Given the description of an element on the screen output the (x, y) to click on. 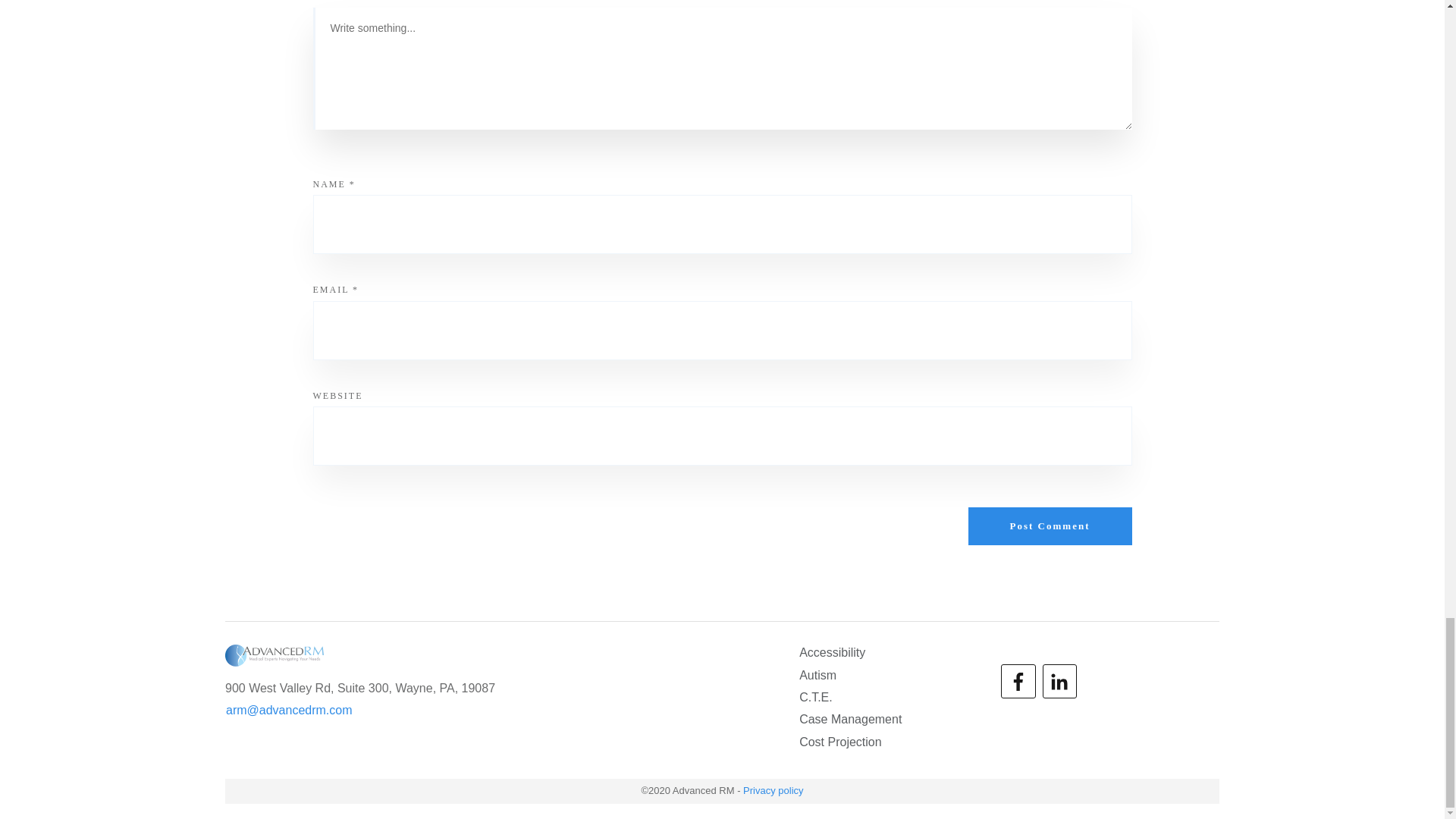
C.T.E. (815, 697)
Case Management (850, 719)
Accessibility (831, 652)
Autism (817, 675)
Post Comment (1049, 525)
